Given the description of an element on the screen output the (x, y) to click on. 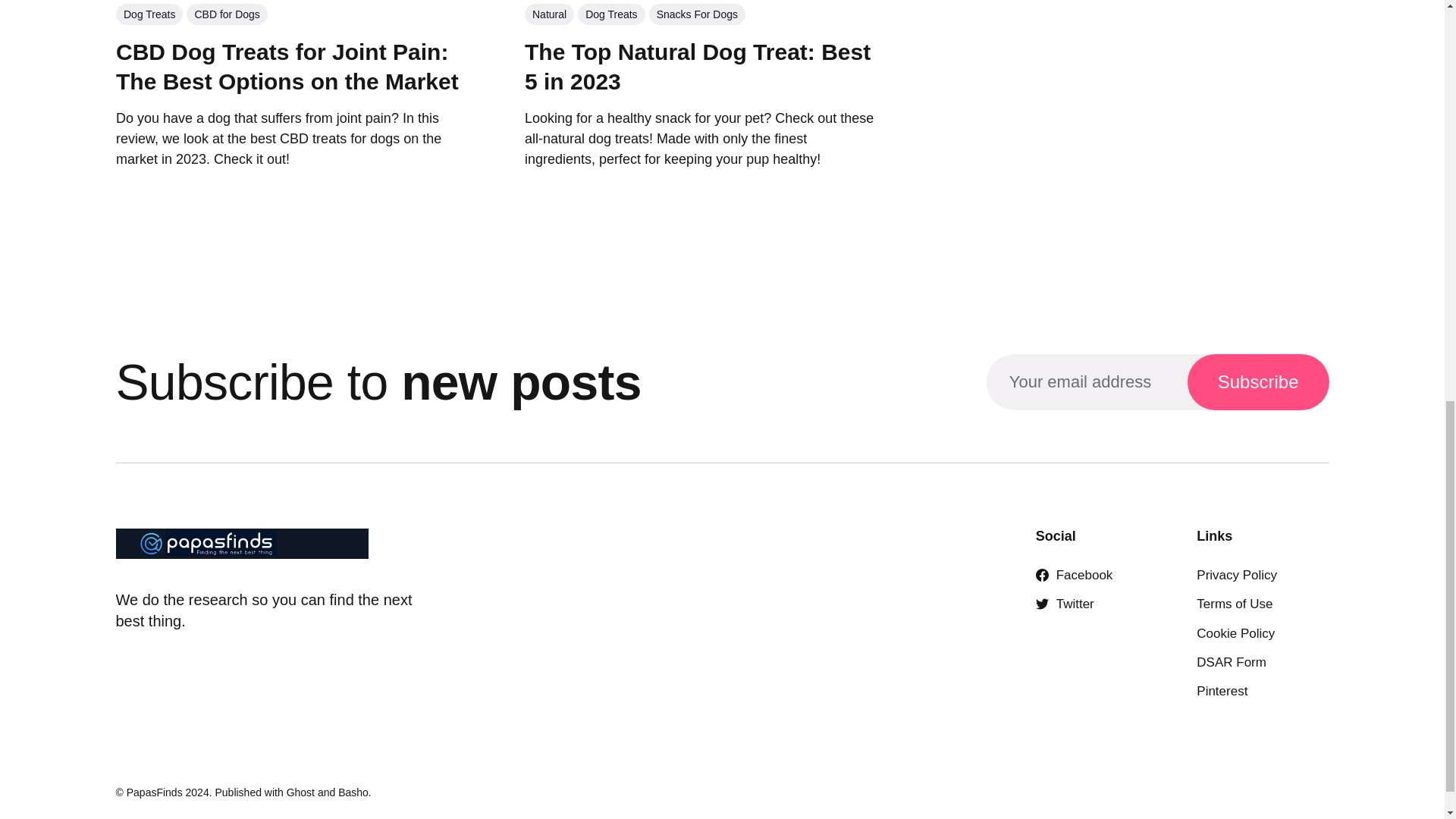
Subscribe (1258, 381)
Dog Treats (148, 25)
Facebook (1074, 575)
DSAR Form (1231, 662)
Twitter (1064, 603)
Dog Treats (609, 17)
Natural (548, 18)
Terms of Use (1234, 603)
The Top Natural Dog Treat: Best 5 in 2023 (696, 68)
CBD for Dogs (226, 23)
Cookie Policy (1235, 633)
Ghost (300, 792)
Snacks For Dogs (695, 16)
Basho (352, 792)
